Given the description of an element on the screen output the (x, y) to click on. 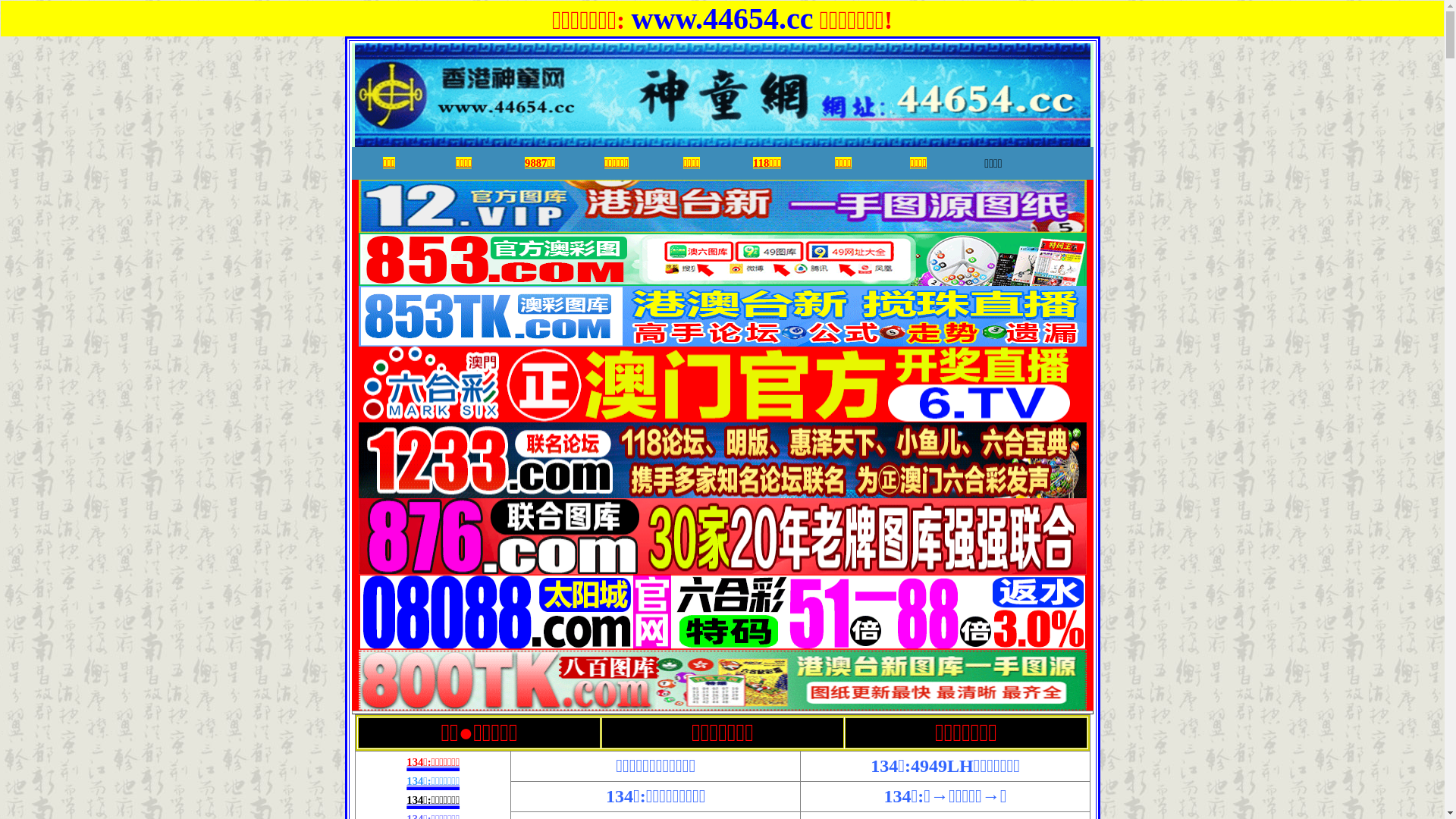
9.23 Element type: hover (721, 642)
9.23 Element type: hover (721, 225)
9.23 Element type: hover (721, 566)
9.23 Element type: hover (721, 703)
9.23 Element type: hover (721, 278)
9.23 Element type: hover (721, 491)
9.23 Element type: hover (721, 415)
9.23 Element type: hover (721, 339)
